Given the description of an element on the screen output the (x, y) to click on. 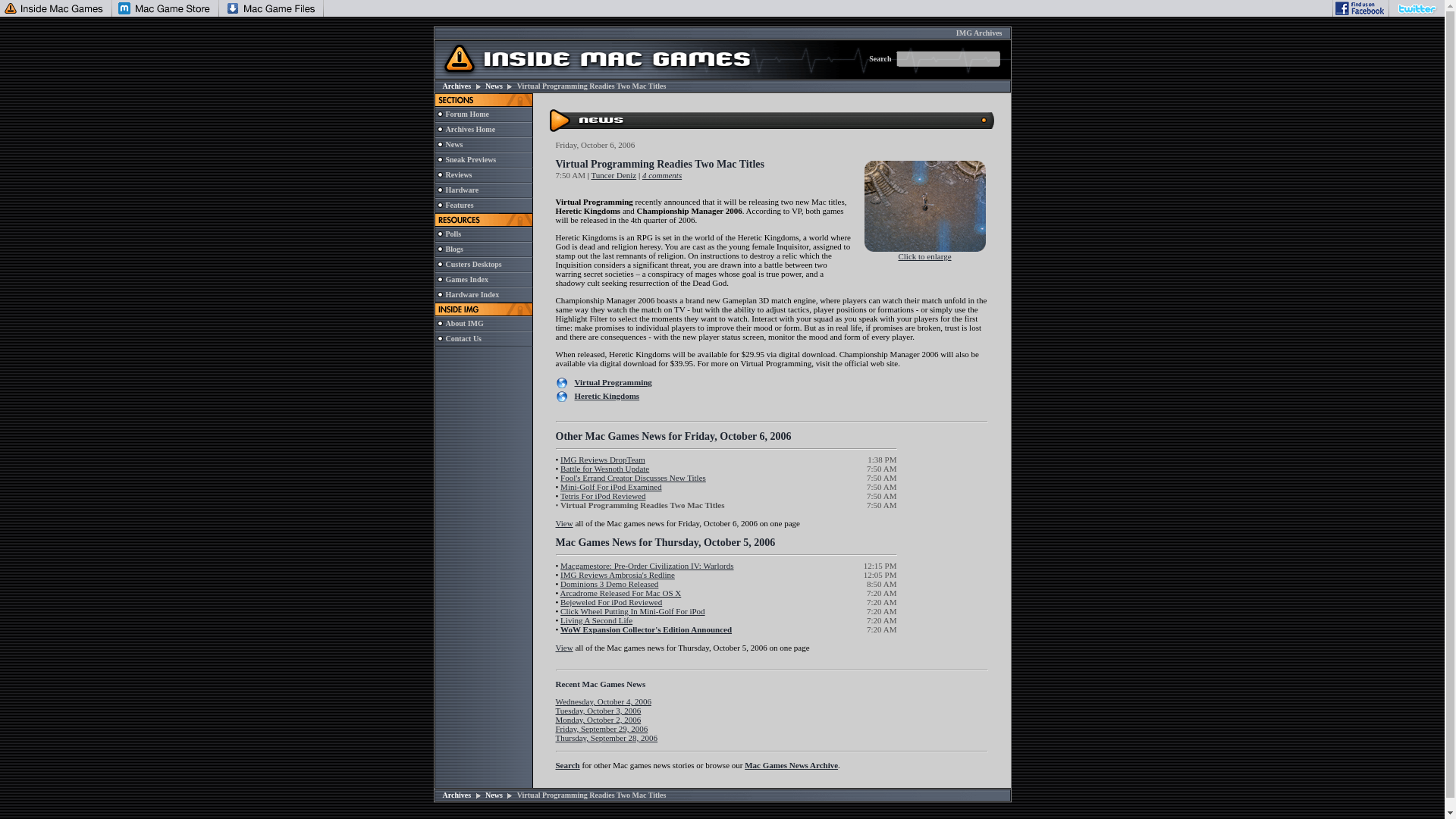
Battle for Wesnoth Update (604, 468)
Contact Us (463, 338)
Reviews (458, 174)
Macgamestore: Pre-Order Civilization IV: Warlords (646, 565)
4 comments (661, 174)
View (563, 522)
Features (459, 204)
Polls (453, 234)
Archives Home (470, 129)
Click Wheel Putting In Mini-Golf For iPod (632, 610)
